Given the description of an element on the screen output the (x, y) to click on. 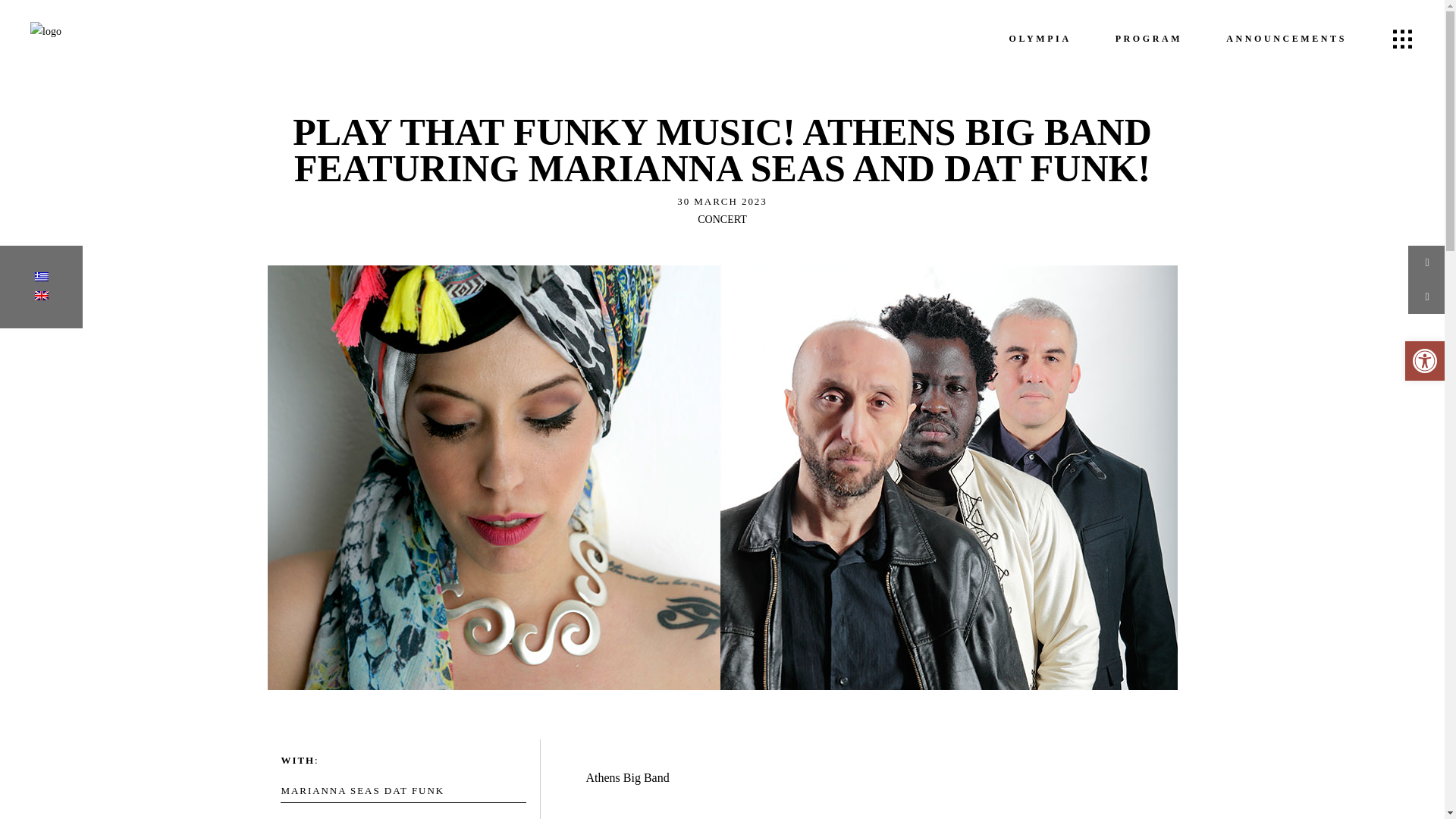
ANNOUNCEMENTS (1286, 38)
OLYMPIA (1040, 38)
PROGRAM (1149, 38)
Accessibility Tools (1424, 360)
